Given the description of an element on the screen output the (x, y) to click on. 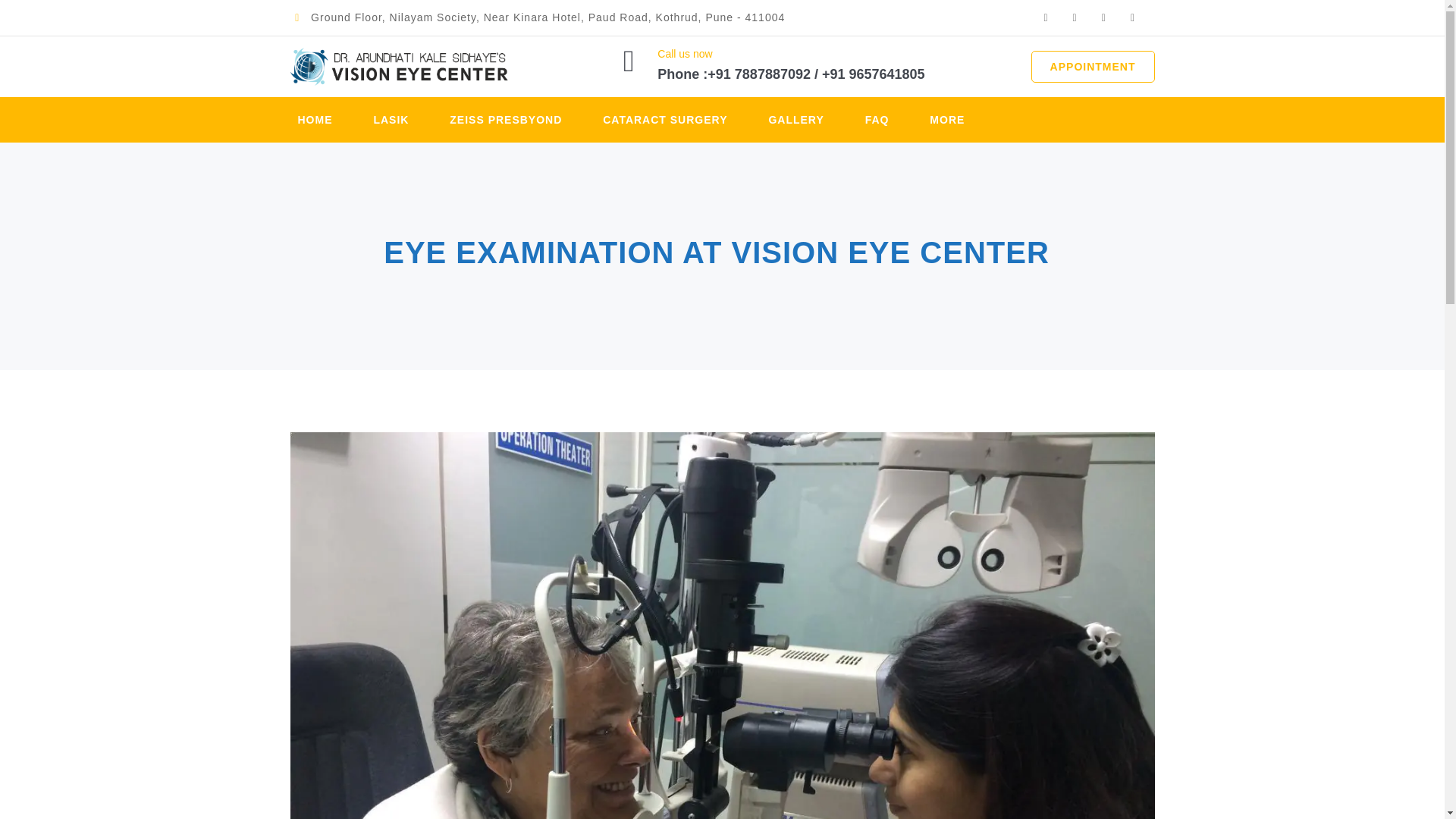
ZEISS PRESBYOND (505, 119)
HOME (315, 119)
Vision Eye Center (397, 66)
CATARACT SURGERY (664, 119)
MORE (947, 119)
FAQ (876, 119)
APPOINTMENT (1092, 66)
LASIK (390, 119)
GALLERY (796, 119)
